Given the description of an element on the screen output the (x, y) to click on. 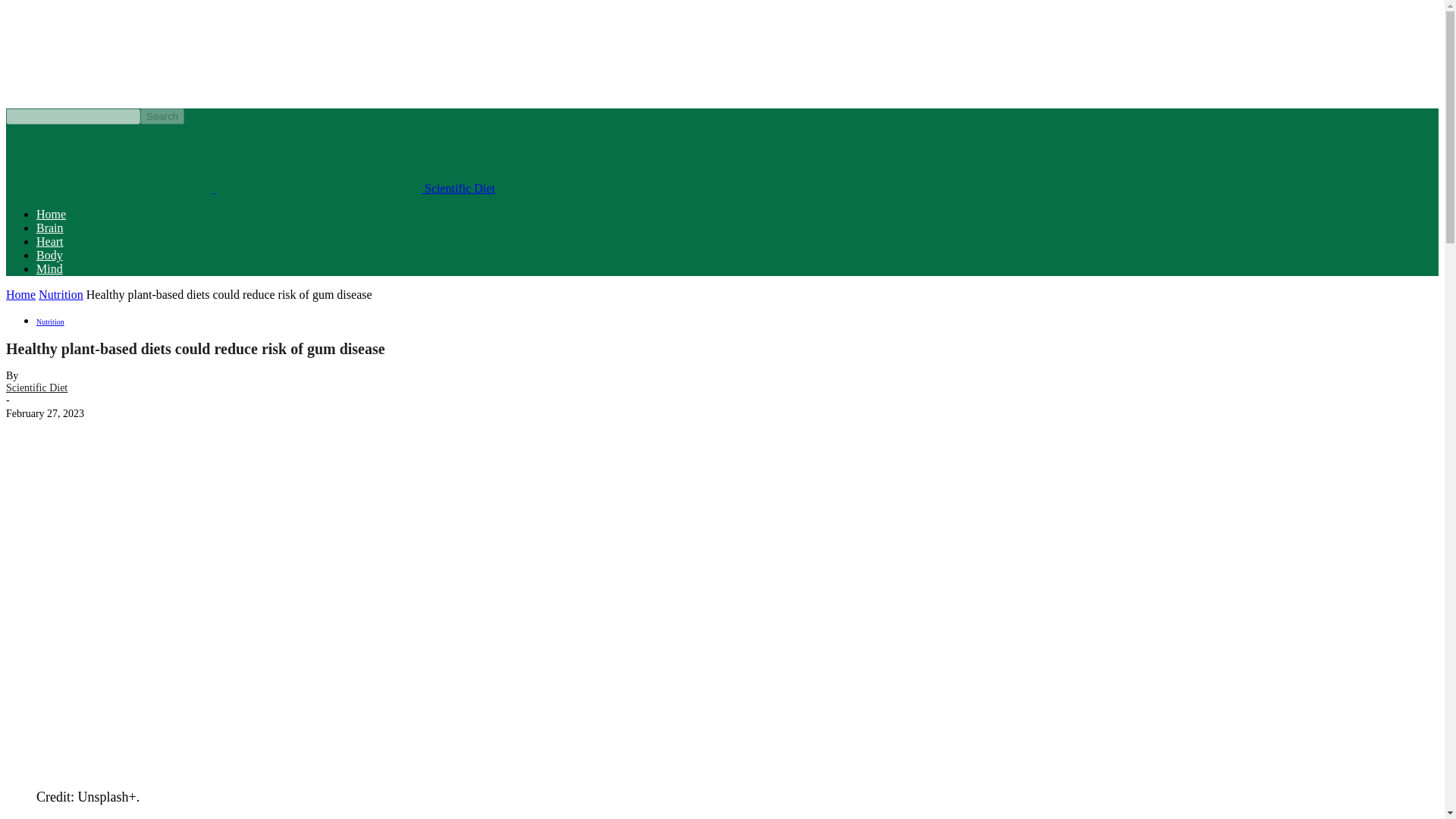
Scientific Diet (355, 187)
Brain (50, 227)
Scientific Diet (108, 158)
Scientific Diet (35, 387)
Nutrition (60, 294)
Home (19, 294)
Mind (49, 268)
Scientific Diet (318, 158)
Heart (50, 241)
Search (161, 116)
Home (50, 214)
View all posts in Nutrition (60, 294)
Nutrition (50, 321)
Body (49, 254)
Search (161, 116)
